Given the description of an element on the screen output the (x, y) to click on. 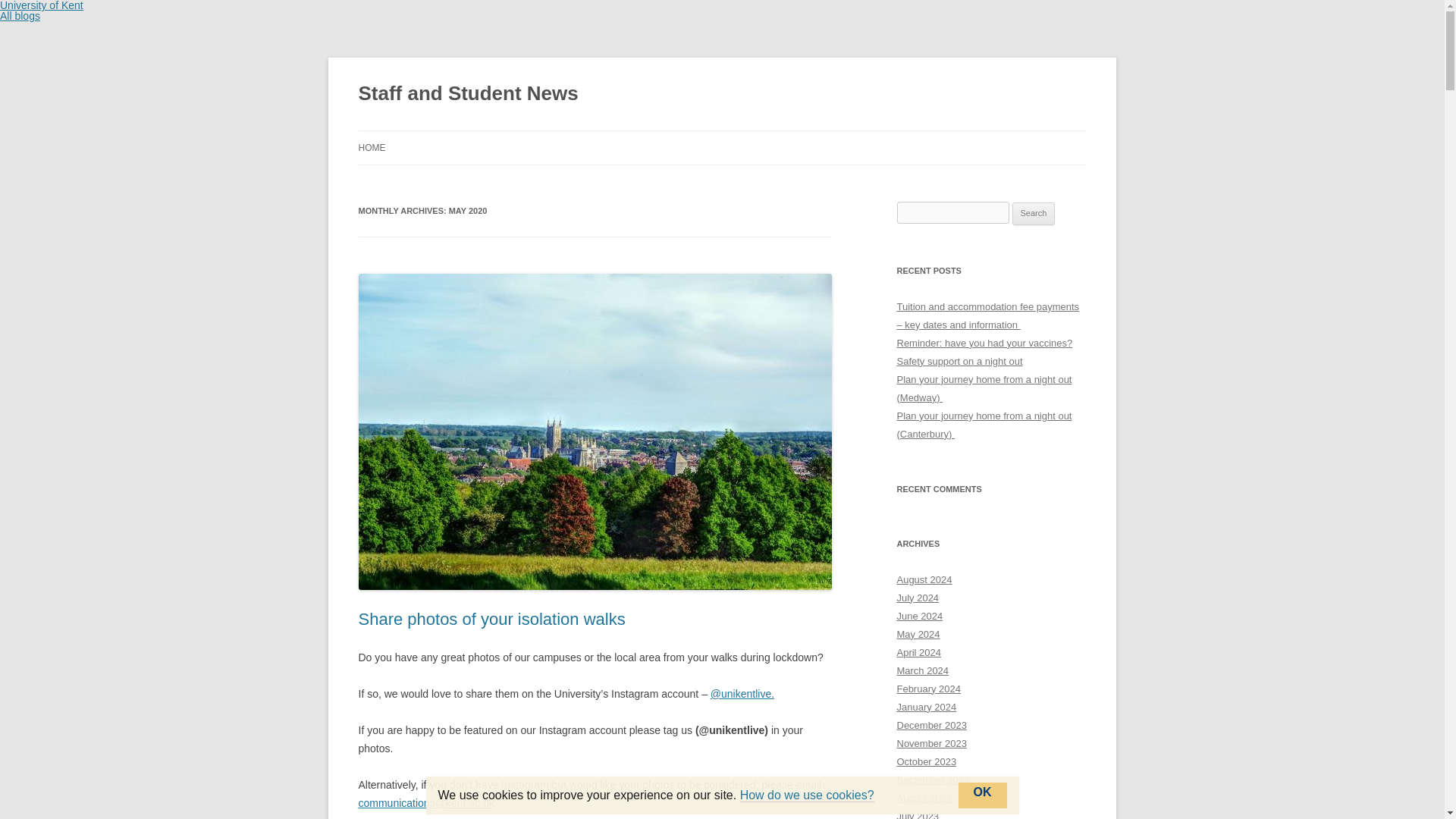
Search (1033, 213)
University of Kent (41, 5)
How do we use cookies? (807, 795)
Staff and Student News (468, 94)
All blogs (20, 15)
University of Kent website homepage (41, 5)
OK (982, 795)
Share photos of your isolation walks (491, 618)
